Given the description of an element on the screen output the (x, y) to click on. 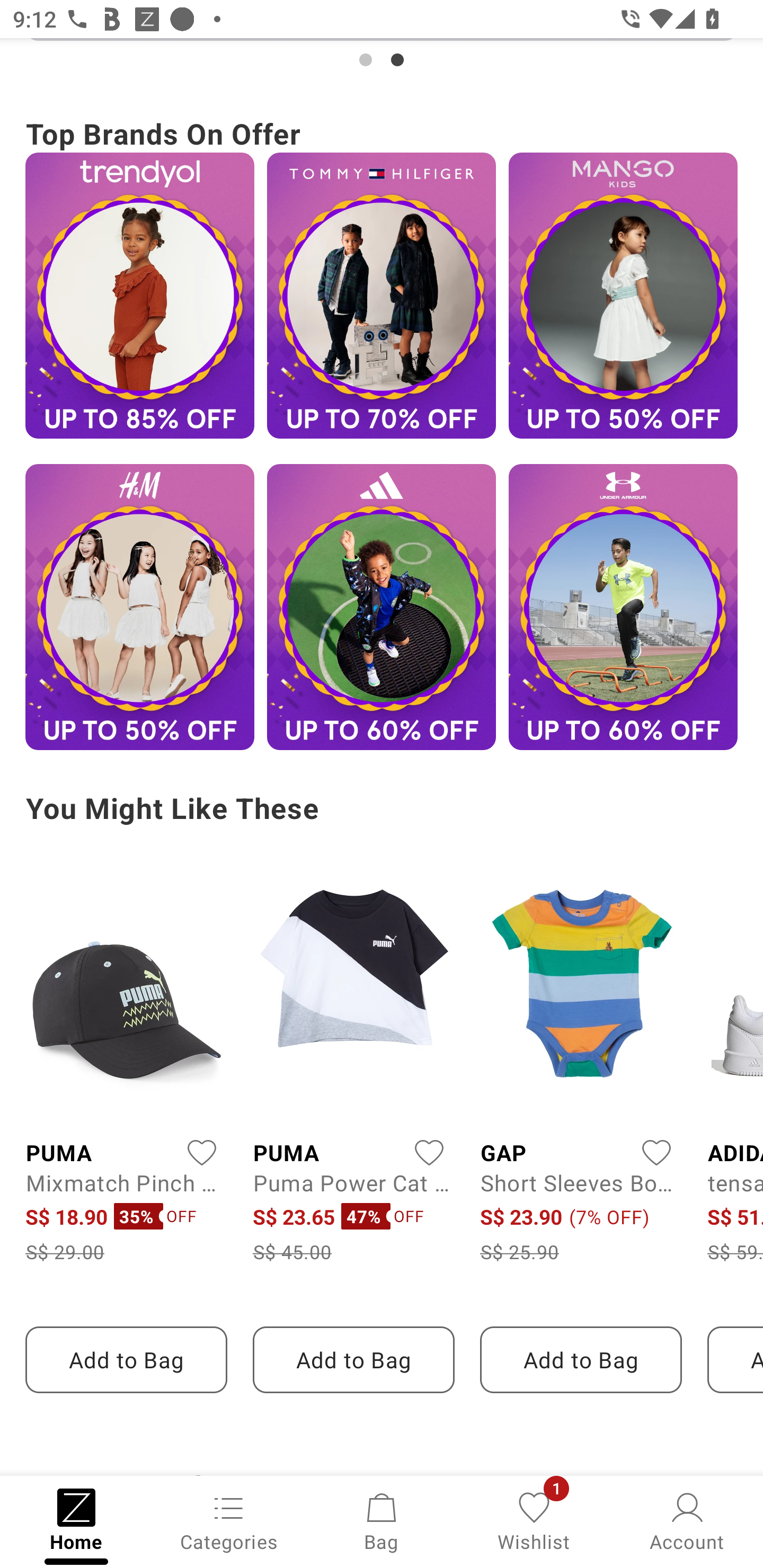
Campaign banner (381, 54)
Campaign banner (139, 295)
Campaign banner (381, 295)
Campaign banner (622, 295)
Campaign banner (139, 606)
Campaign banner (381, 606)
Campaign banner (622, 606)
Add to Bag (126, 1359)
Add to Bag (353, 1359)
Add to Bag (580, 1359)
Categories (228, 1519)
Bag (381, 1519)
Wishlist, 1 new notification Wishlist (533, 1519)
Account (686, 1519)
